Given the description of an element on the screen output the (x, y) to click on. 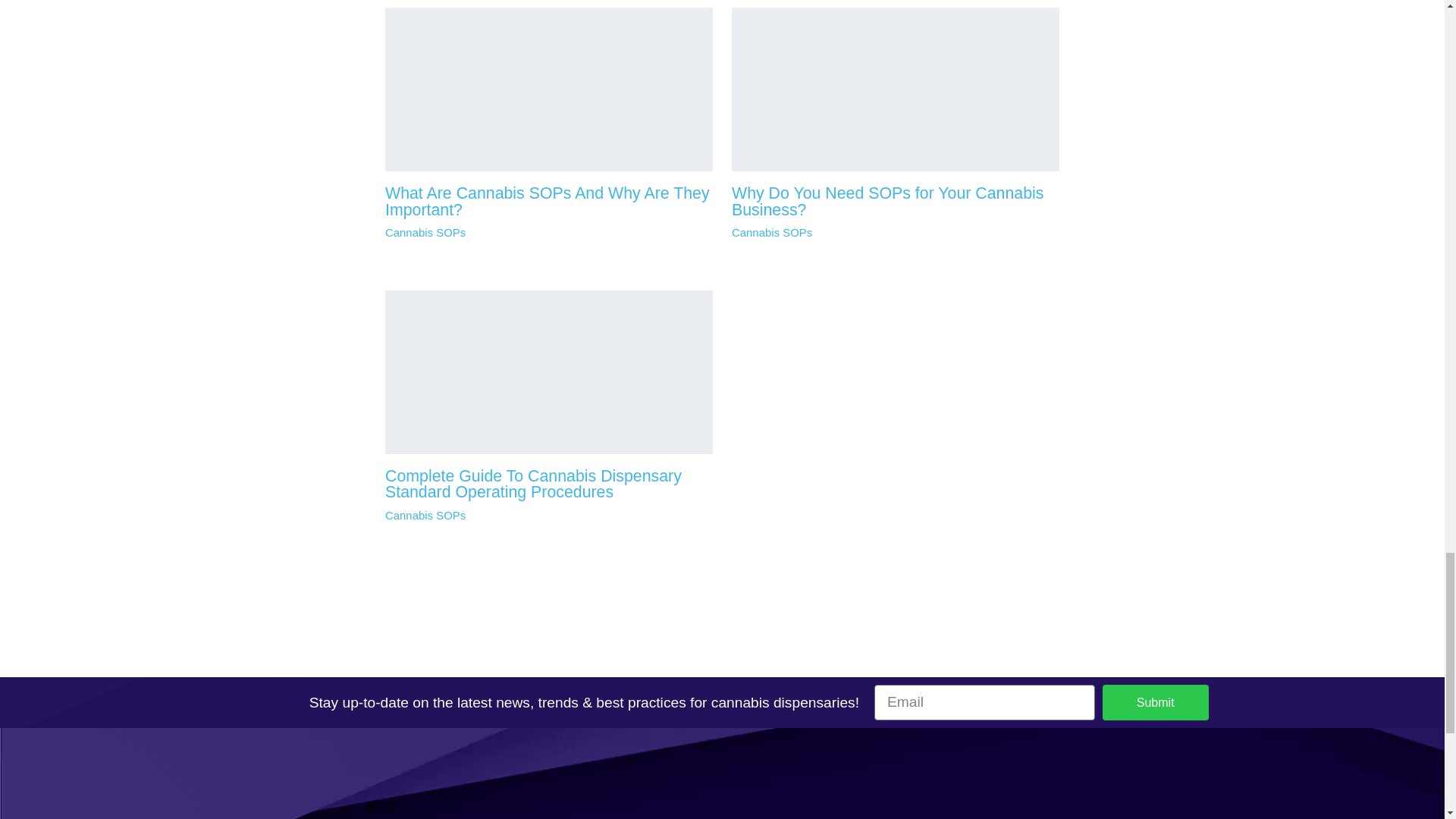
Cannabis SOPs (425, 232)
Submit (1155, 702)
Why Do You Need SOPs for Your Cannabis Business? (887, 201)
Cannabis SOPs (772, 232)
What Are Cannabis SOPs And Why Are They Important? (547, 201)
Cannabis SOPs (425, 514)
